Given the description of an element on the screen output the (x, y) to click on. 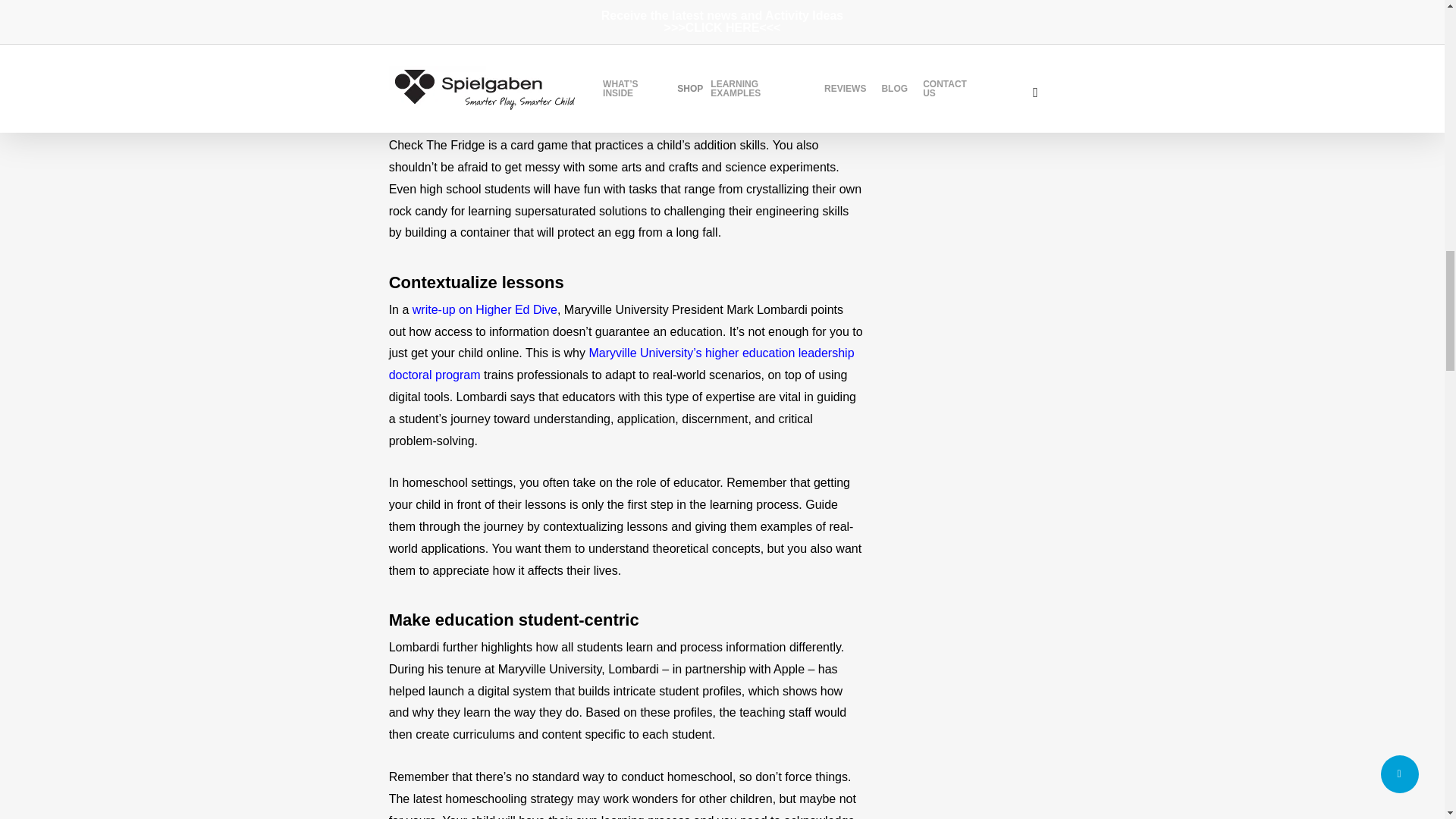
write-up on Higher Ed Dive (484, 309)
